Given the description of an element on the screen output the (x, y) to click on. 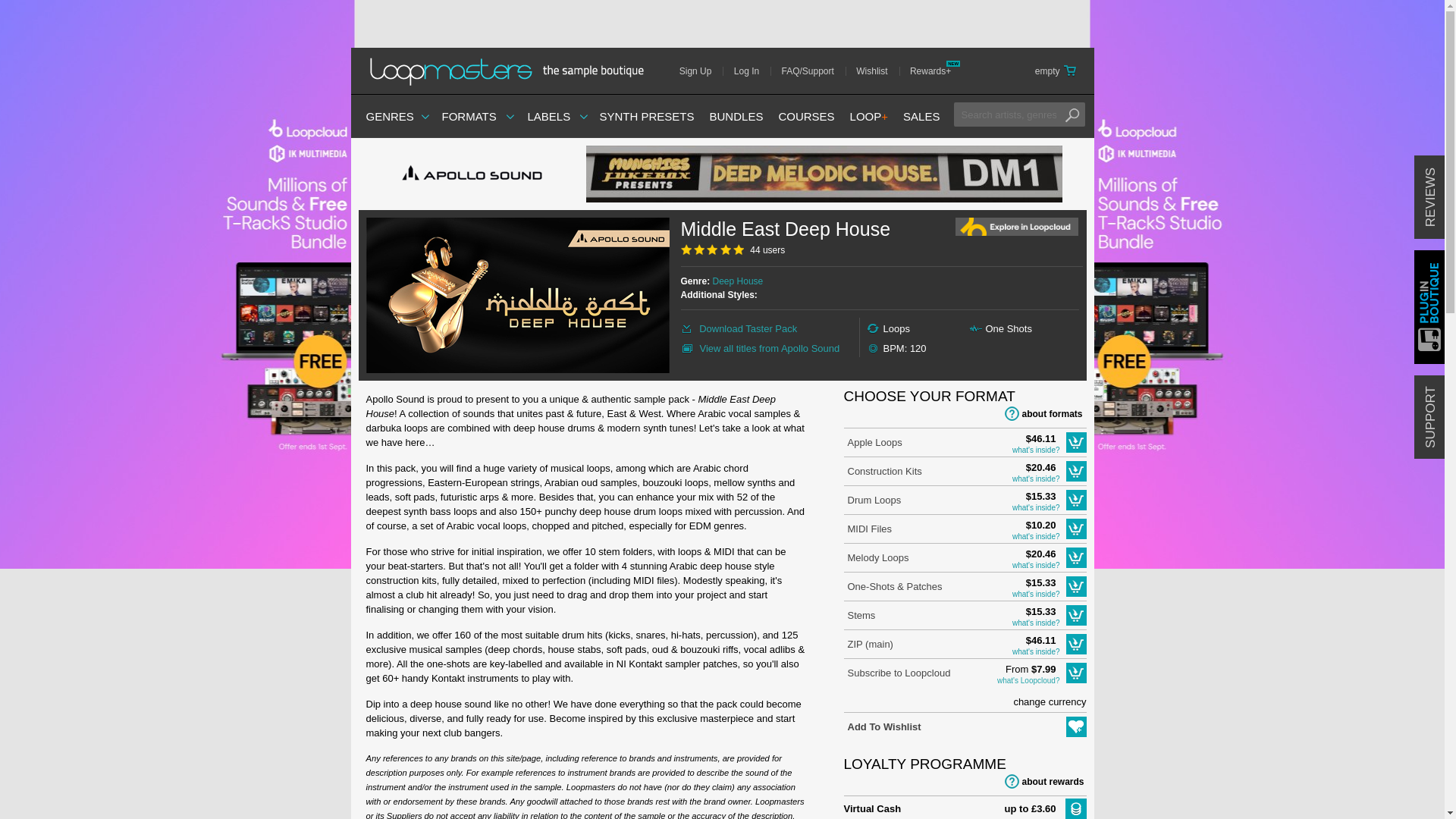
Log In (752, 71)
Support and frequently questioned answers (812, 71)
Log In (752, 71)
Sign Up (701, 71)
Wishlist (877, 71)
Wishlist (877, 71)
GENRES (389, 115)
Loopmasters - the sample boutique (511, 71)
Sign Up (701, 71)
Show all genres (389, 115)
